Given the description of an element on the screen output the (x, y) to click on. 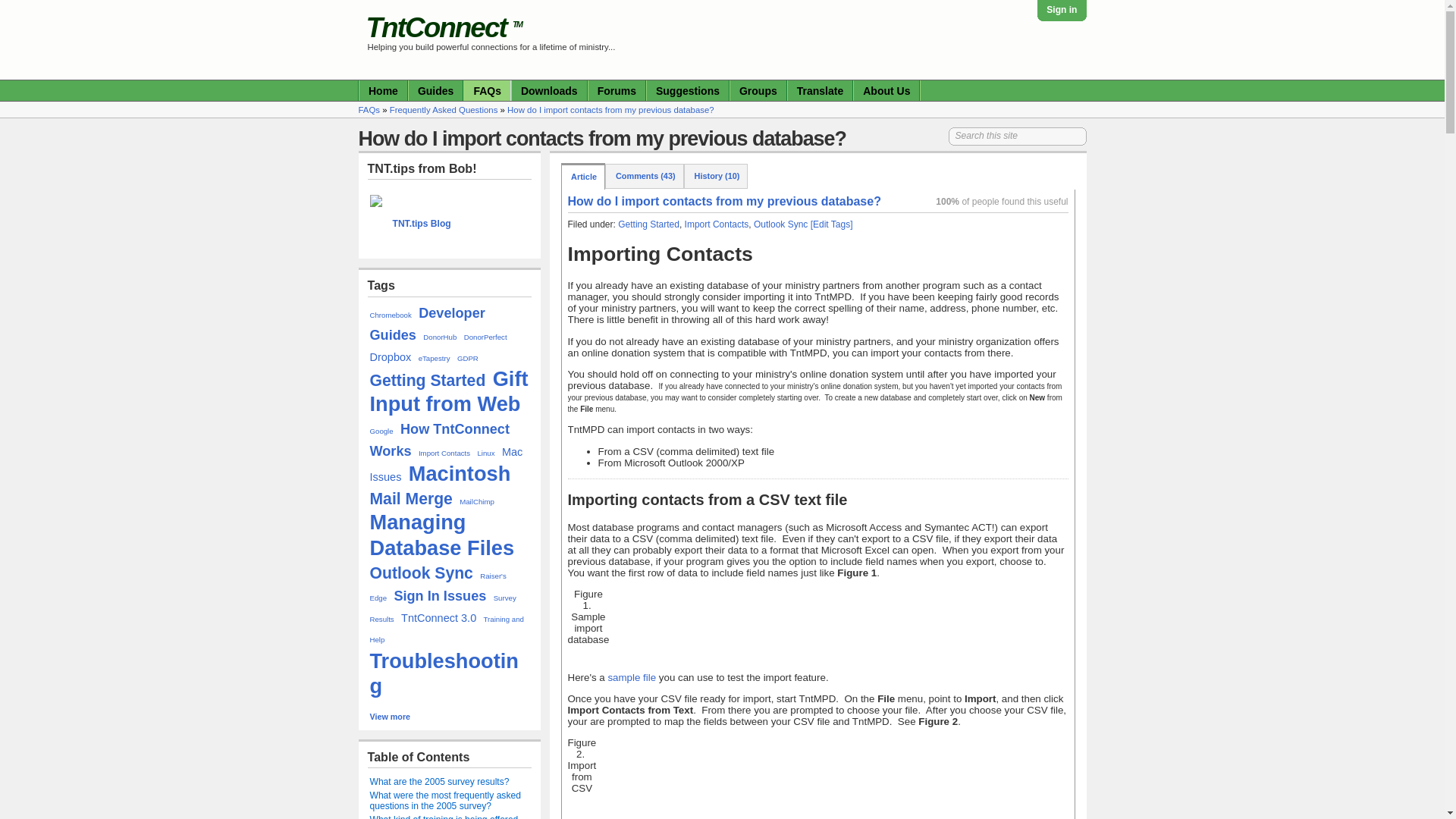
Linux (486, 452)
FAQs (369, 109)
About Us (886, 90)
Outlook Sync (421, 572)
DonorPerfect (485, 336)
GDPR (468, 357)
TNT.tips Blog (422, 223)
Translate (820, 90)
Rated: 2 Ratings - 2 Yes, 0 No (998, 201)
Raiser's Edge (437, 586)
